Given the description of an element on the screen output the (x, y) to click on. 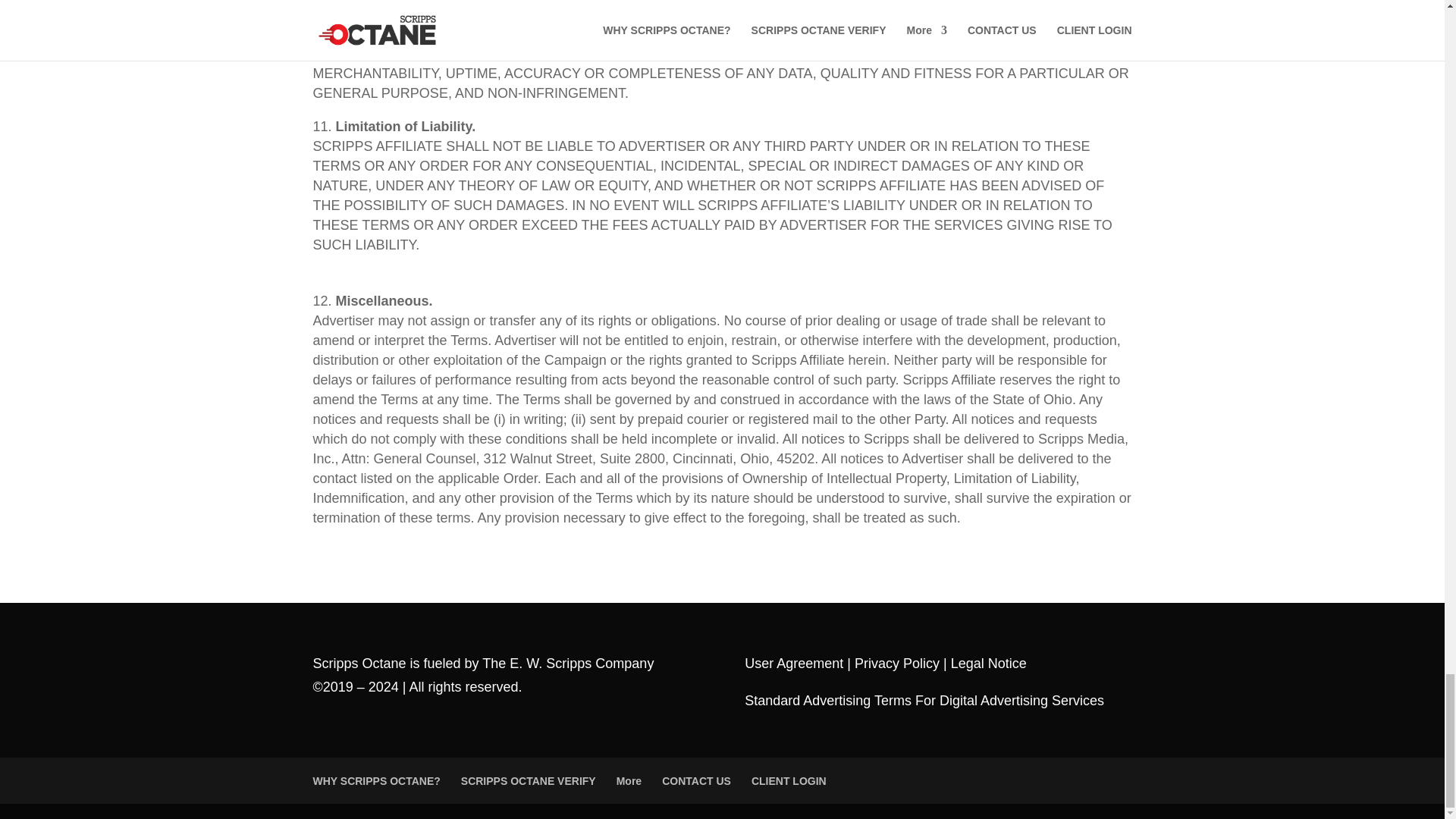
CLIENT LOGIN (789, 780)
CONTACT US (696, 780)
Privacy Policy (896, 663)
The E. W. Scripps Company  (569, 663)
User Agreement (793, 663)
Standard Advertising Terms For Digital Advertising Services (923, 700)
Legal Notice (988, 663)
More (628, 780)
Legal Notice (988, 663)
Privacy Policy (896, 663)
SCRIPPS OCTANE VERIFY (528, 780)
WHY SCRIPPS OCTANE? (376, 780)
User Agreement (793, 663)
